Given the description of an element on the screen output the (x, y) to click on. 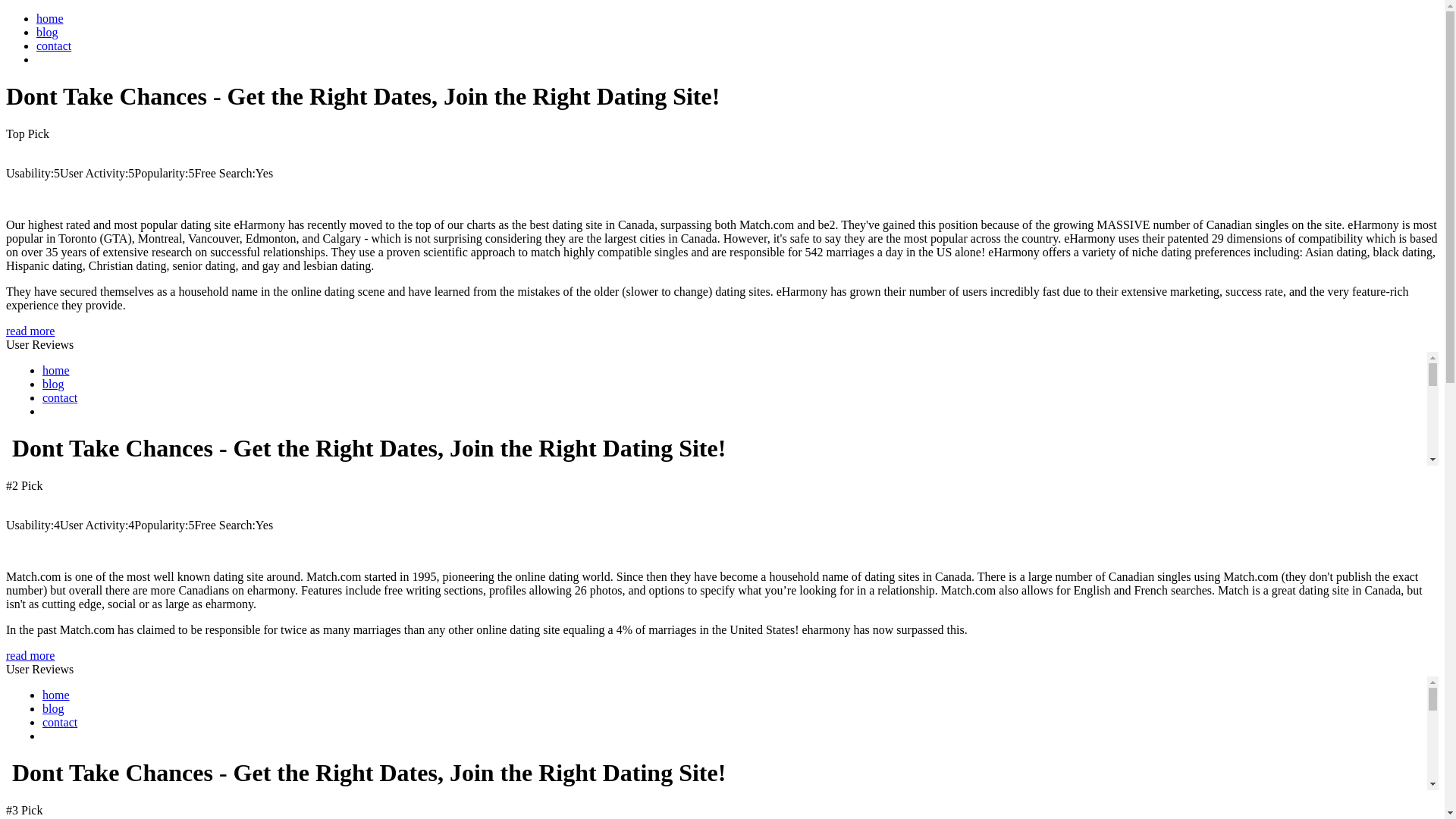
home Element type: text (49, 18)
blog Element type: text (46, 31)
read more Element type: text (30, 655)
read more Element type: text (30, 330)
contact Element type: text (53, 45)
